Given the description of an element on the screen output the (x, y) to click on. 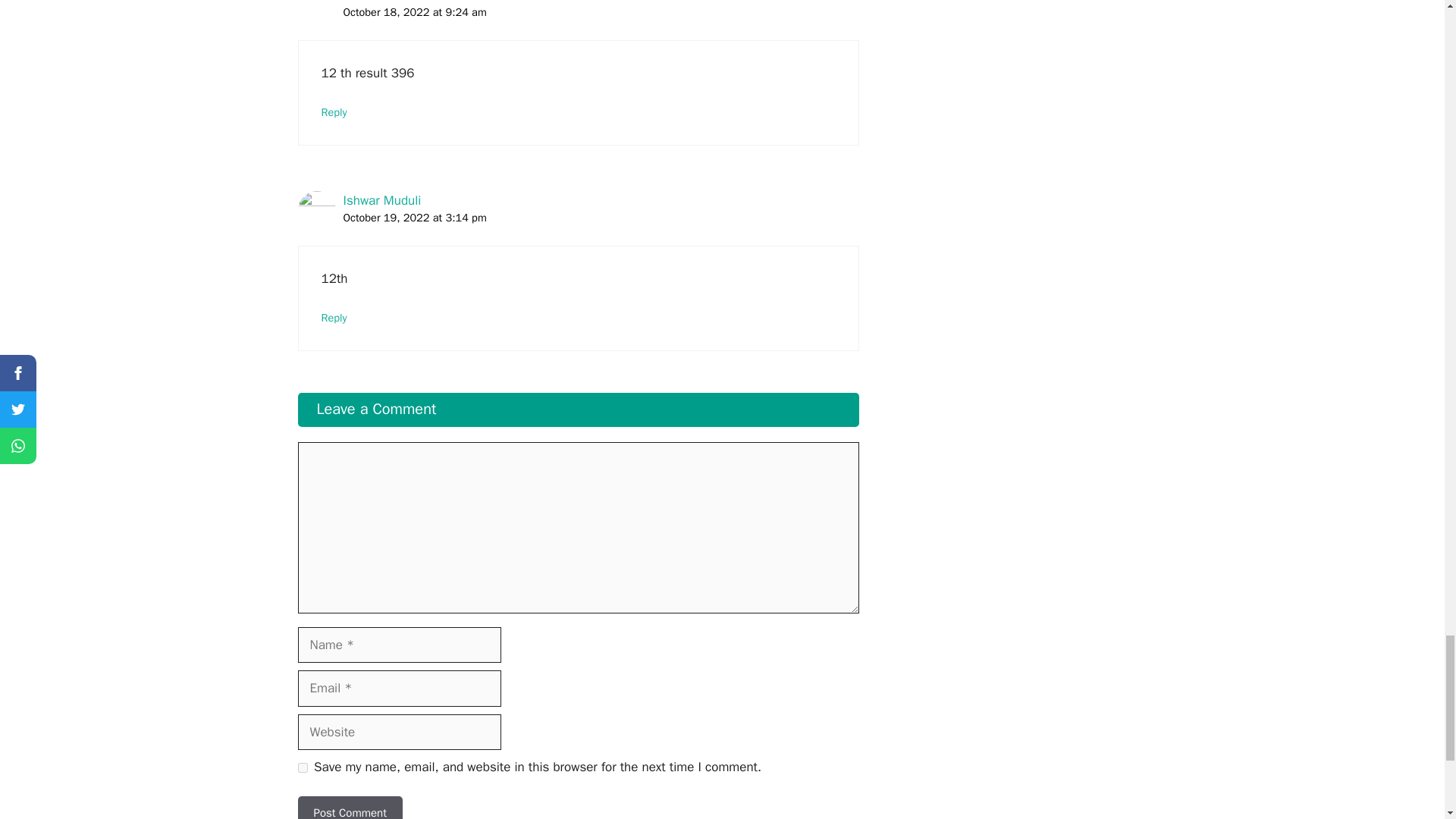
yes (302, 767)
Post Comment (349, 807)
